Given the description of an element on the screen output the (x, y) to click on. 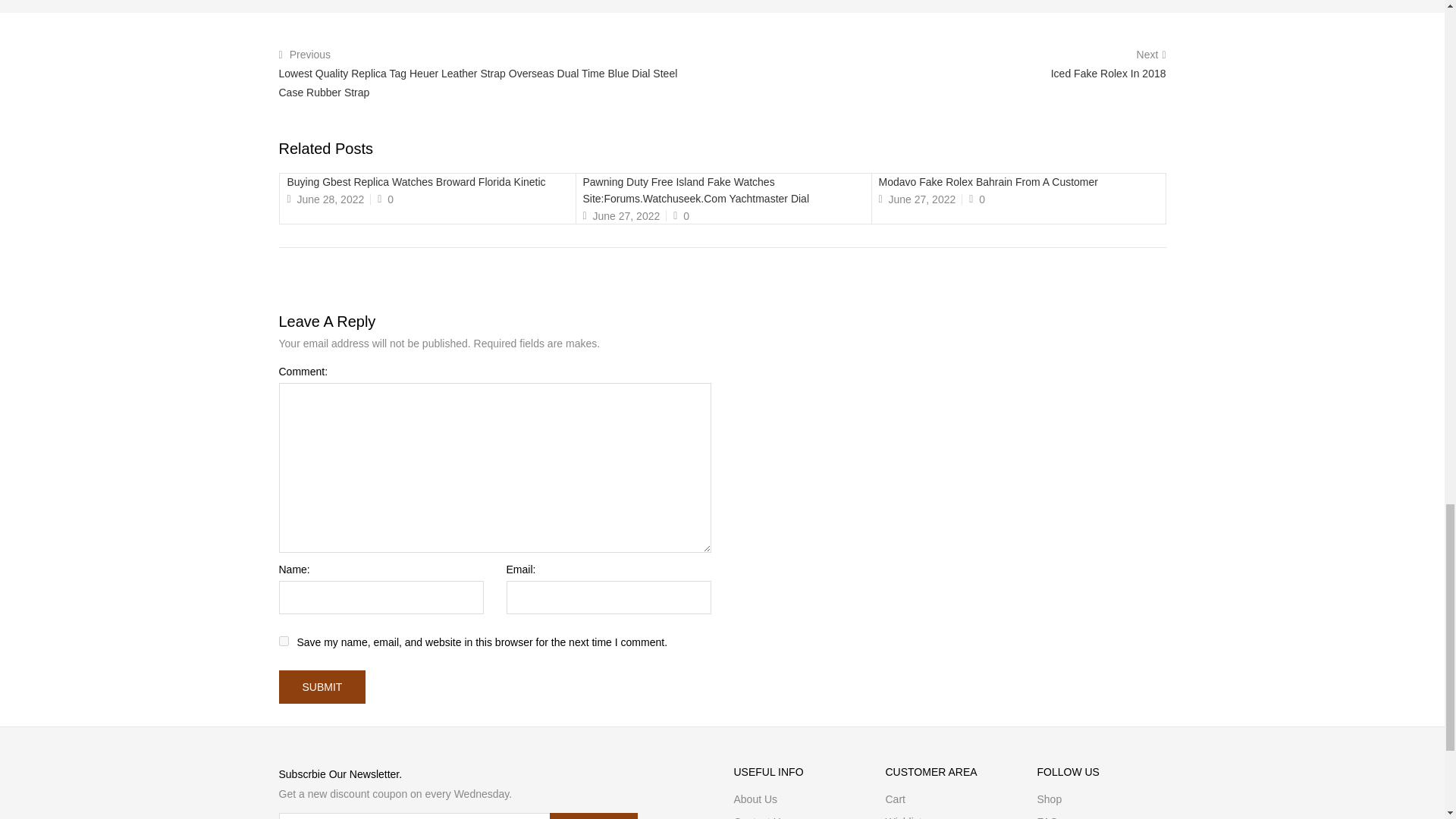
submit (322, 686)
subscribe (593, 816)
yes (283, 641)
